Given the description of an element on the screen output the (x, y) to click on. 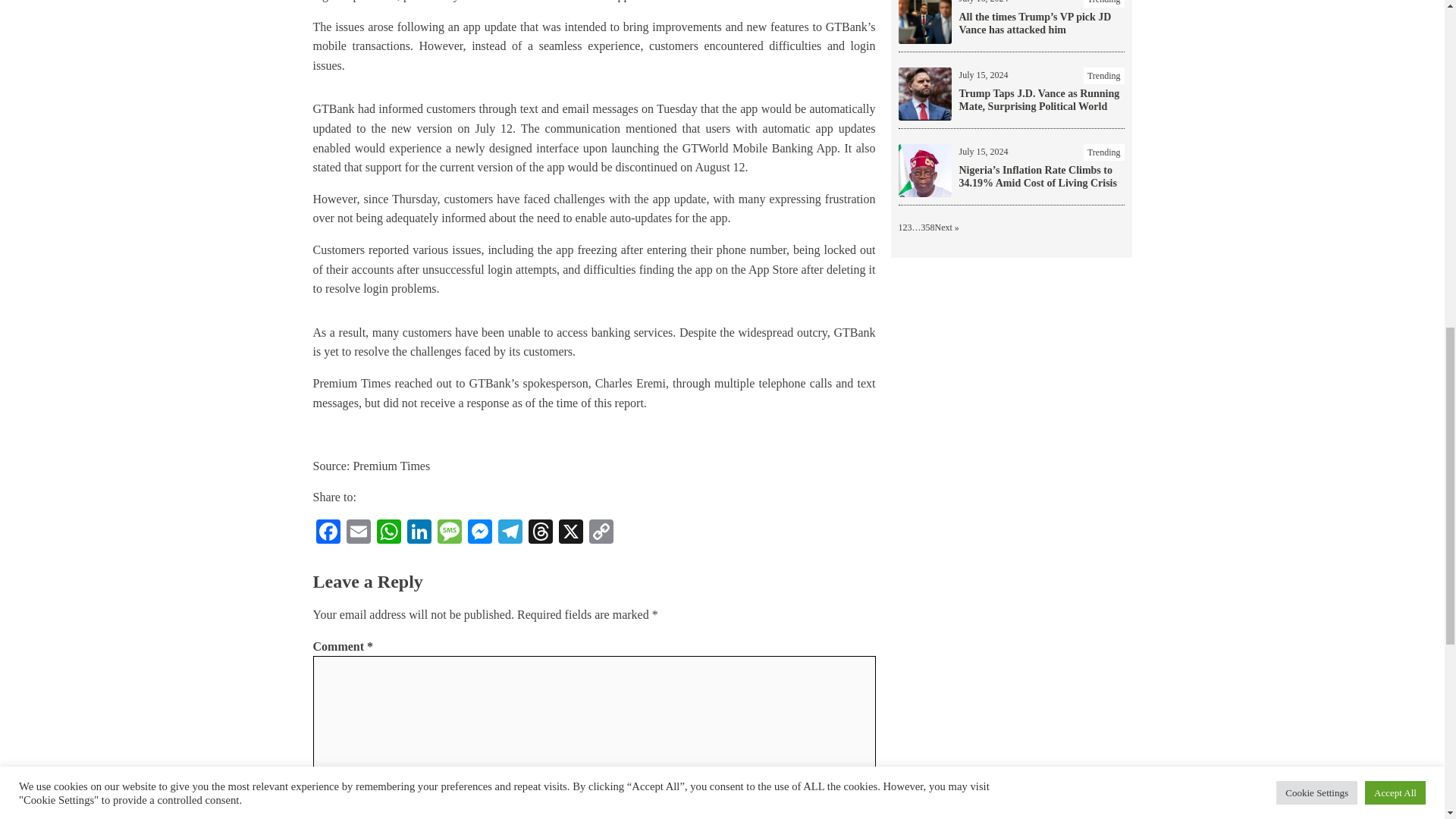
LinkedIn (418, 533)
Facebook (327, 533)
Email (357, 533)
Telegram (509, 533)
Messenger (479, 533)
WhatsApp (387, 533)
Message (448, 533)
Threads (539, 533)
X (569, 533)
Copy Link (600, 533)
